Given the description of an element on the screen output the (x, y) to click on. 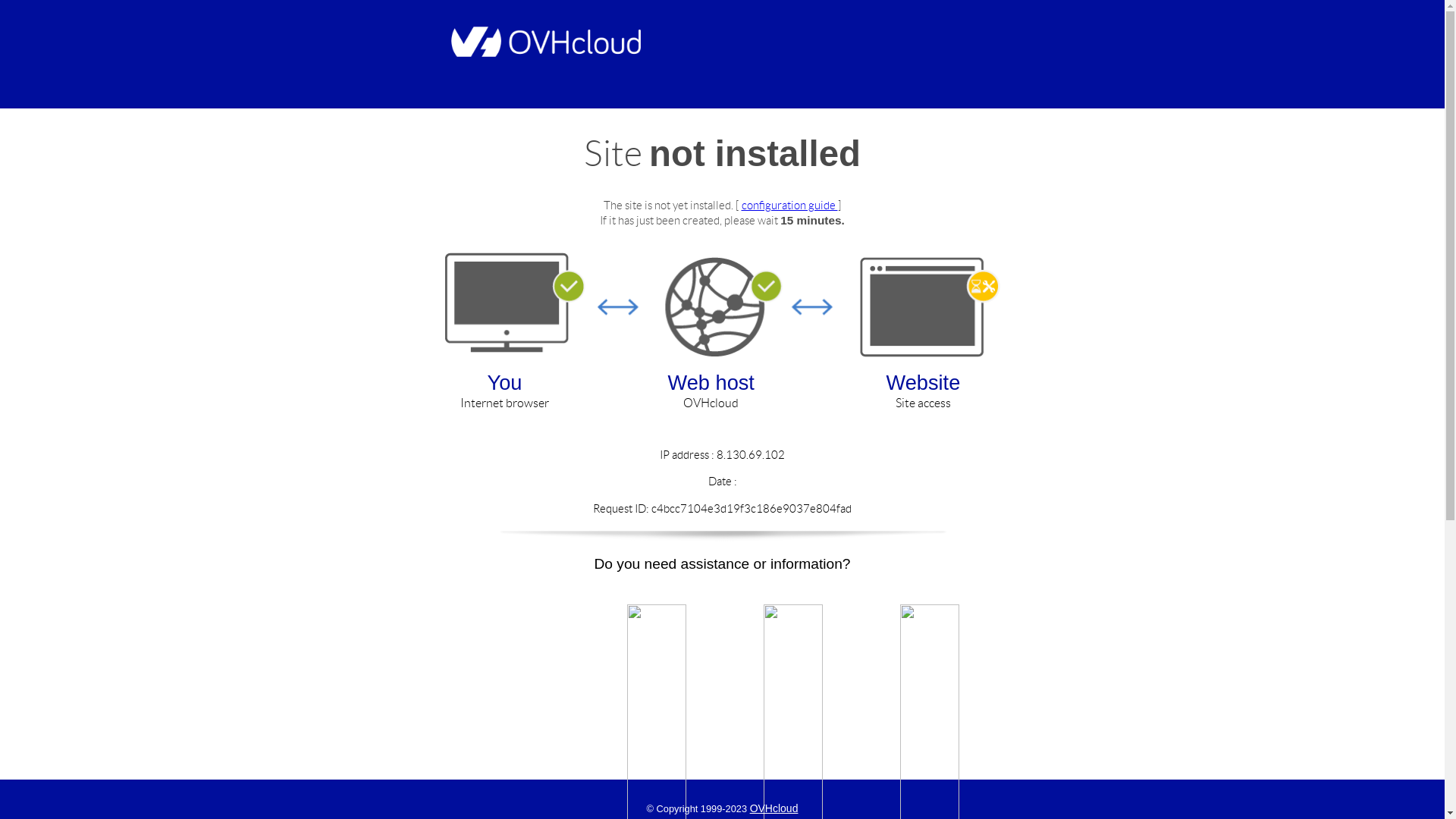
OVHcloud Element type: text (773, 808)
configuration guide Element type: text (789, 204)
